Given the description of an element on the screen output the (x, y) to click on. 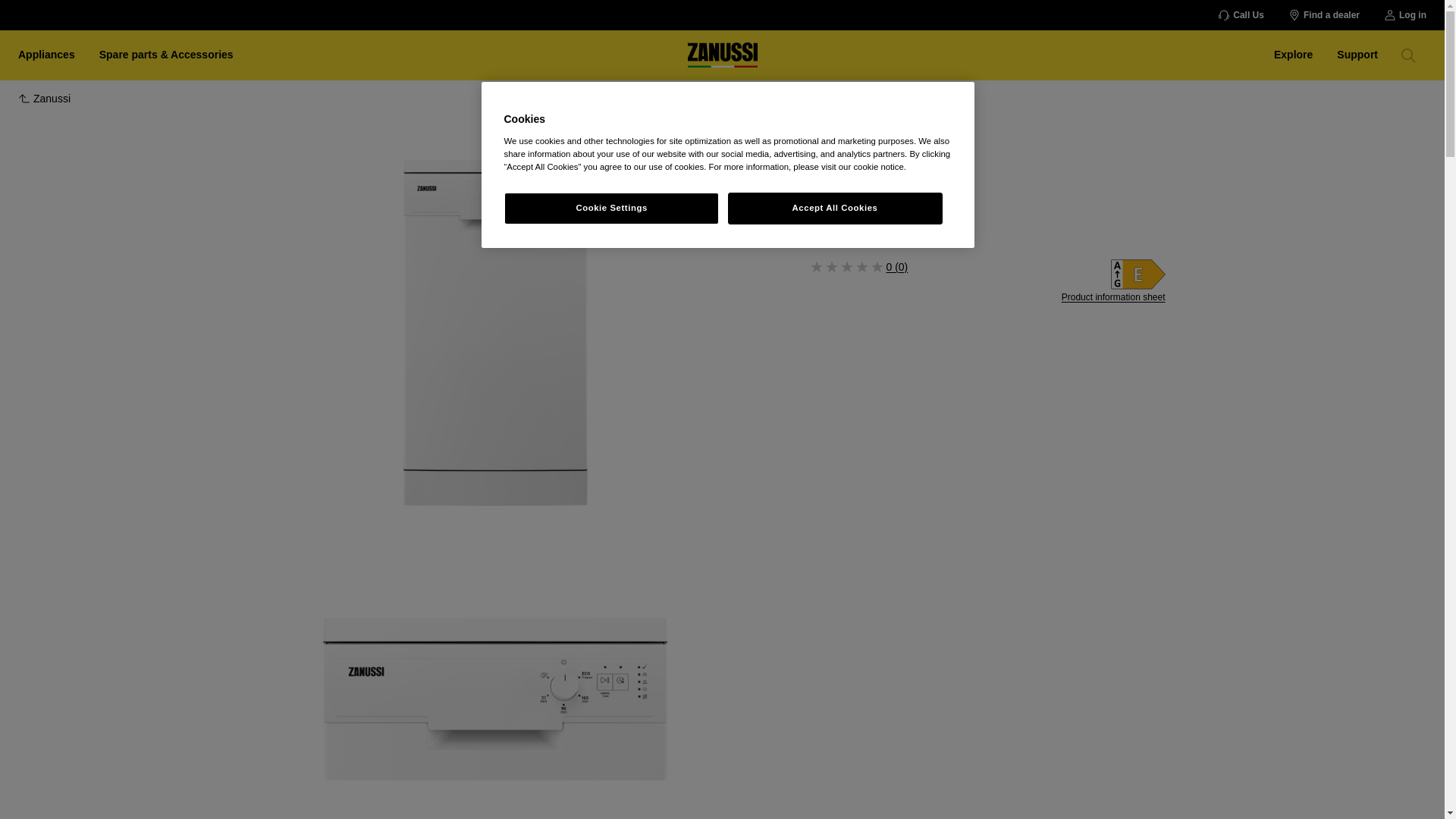
Support (1356, 54)
Find a dealer (1323, 15)
Call Us (1240, 15)
Log in (1405, 15)
